Given the description of an element on the screen output the (x, y) to click on. 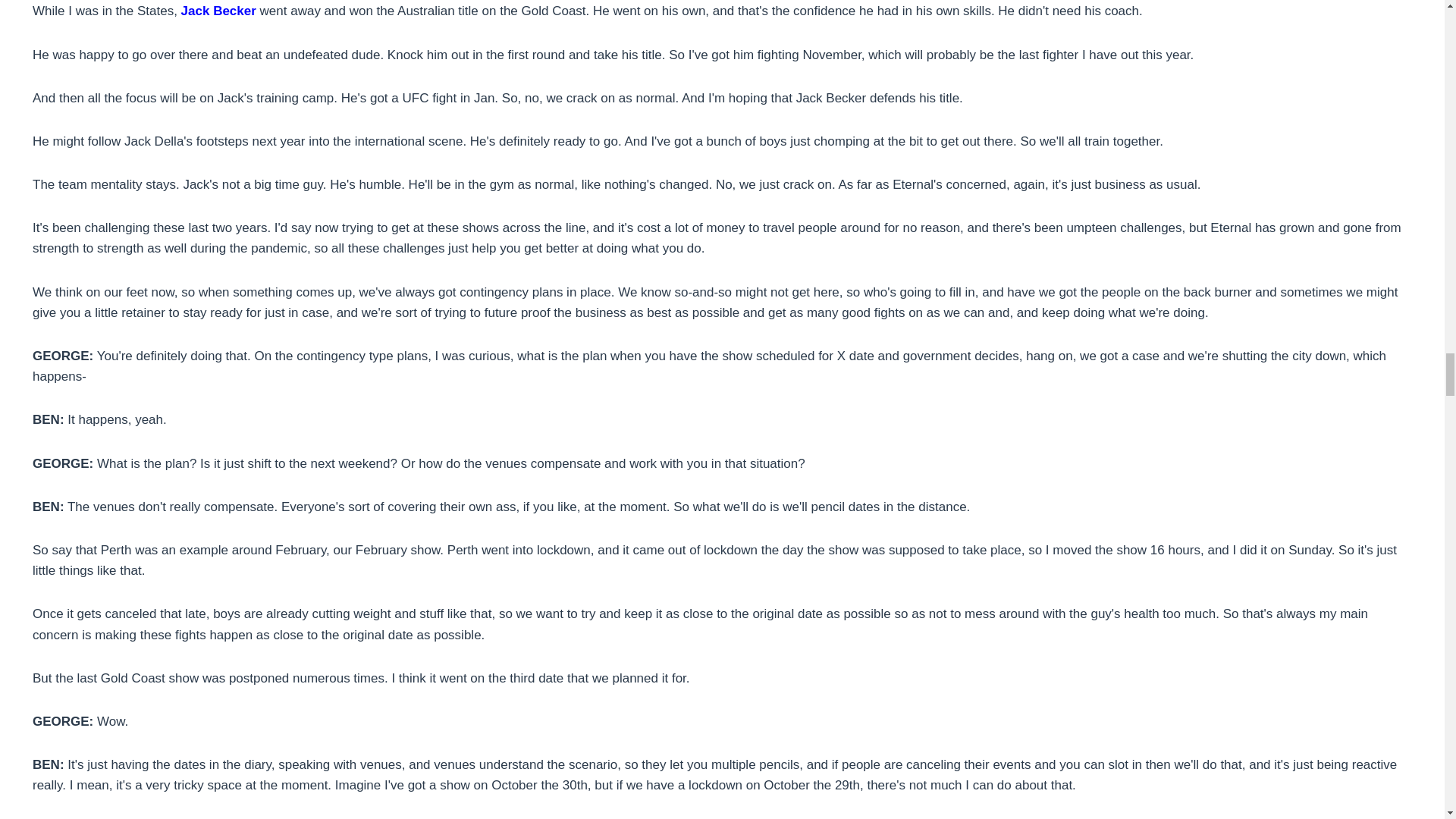
Jack Becker (218, 11)
